Given the description of an element on the screen output the (x, y) to click on. 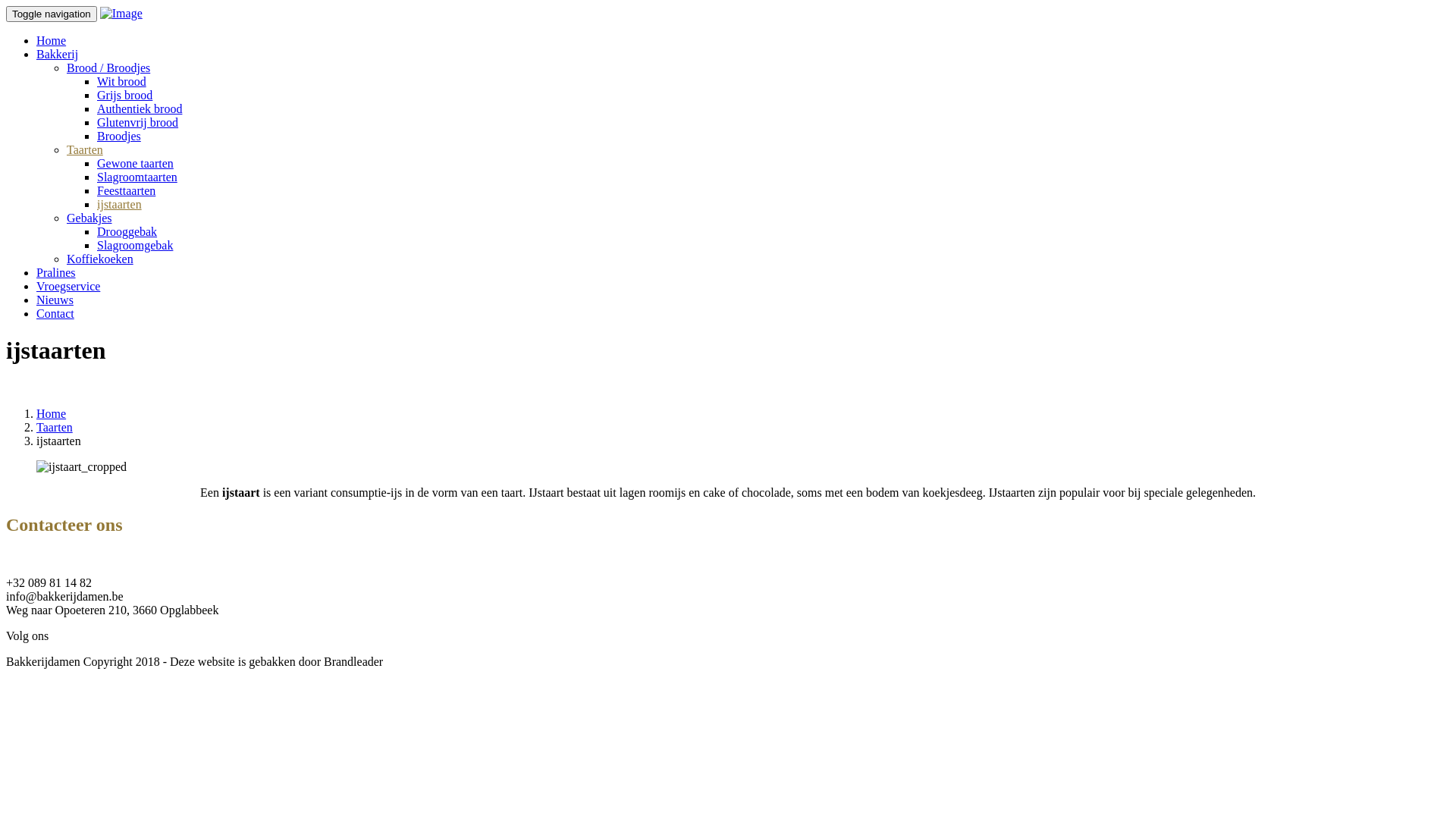
Slagroomgebak Element type: text (134, 244)
Taarten Element type: text (54, 426)
Taarten Element type: text (84, 149)
Brood / Broodjes Element type: text (108, 67)
Home Element type: text (50, 40)
Feesttaarten Element type: text (126, 190)
Broodjes Element type: text (119, 135)
Gewone taarten Element type: text (135, 162)
Grijs brood Element type: text (124, 94)
Koffiekoeken Element type: text (99, 258)
Drooggebak Element type: text (126, 231)
Gebakjes Element type: text (89, 217)
Home Element type: text (50, 413)
Contact Element type: text (55, 313)
Pralines Element type: text (55, 272)
Toggle navigation Element type: text (51, 13)
Authentiek brood Element type: text (139, 108)
Wit brood Element type: text (121, 81)
Vroegservice Element type: text (68, 285)
Glutenvrij brood Element type: text (137, 122)
ijstaarten Element type: text (119, 203)
Nieuws Element type: text (54, 299)
Bakkerij Element type: text (57, 53)
Slagroomtaarten Element type: text (137, 176)
